Given the description of an element on the screen output the (x, y) to click on. 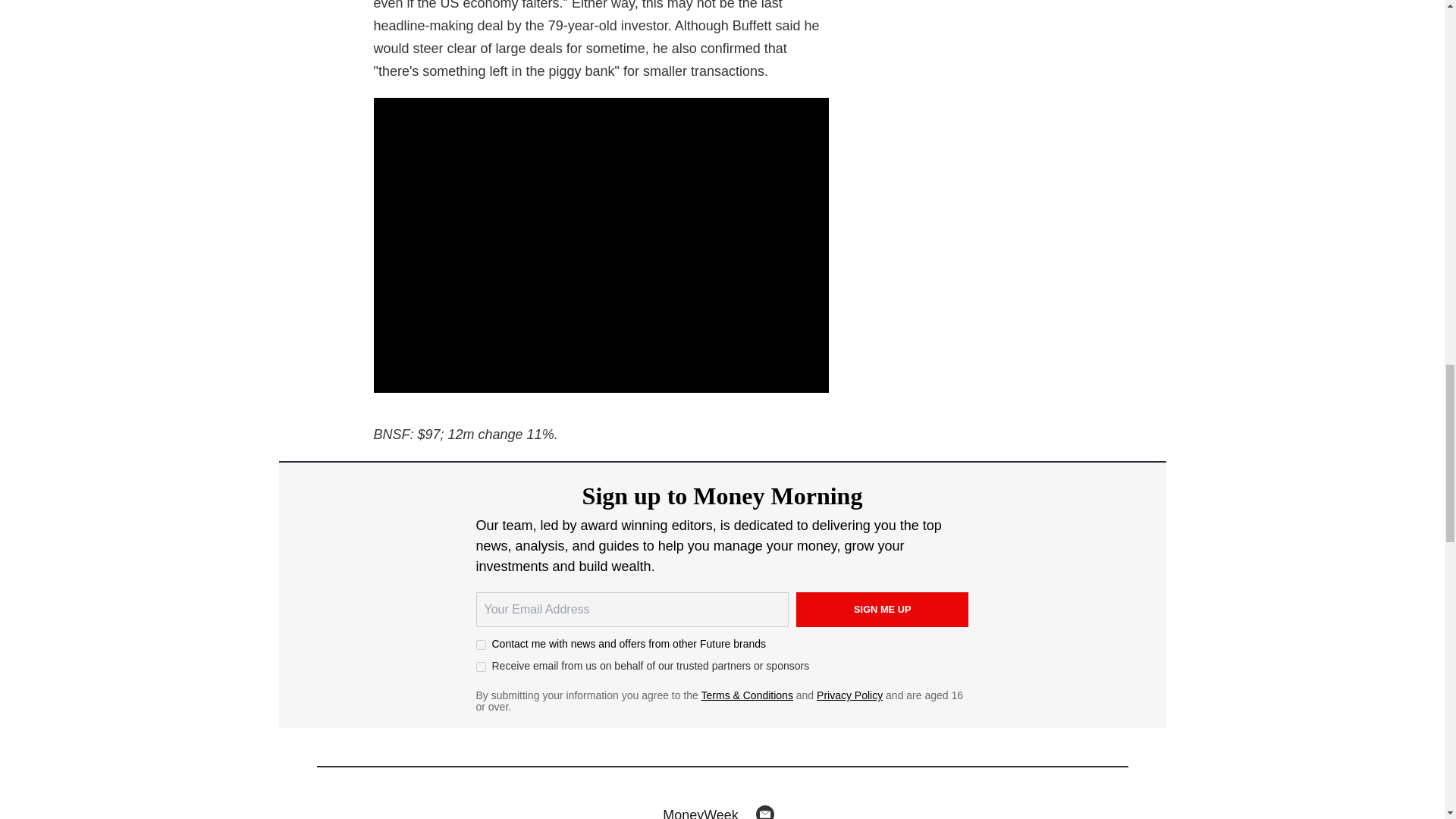
Sign me up (882, 609)
on (481, 666)
on (481, 644)
